Given the description of an element on the screen output the (x, y) to click on. 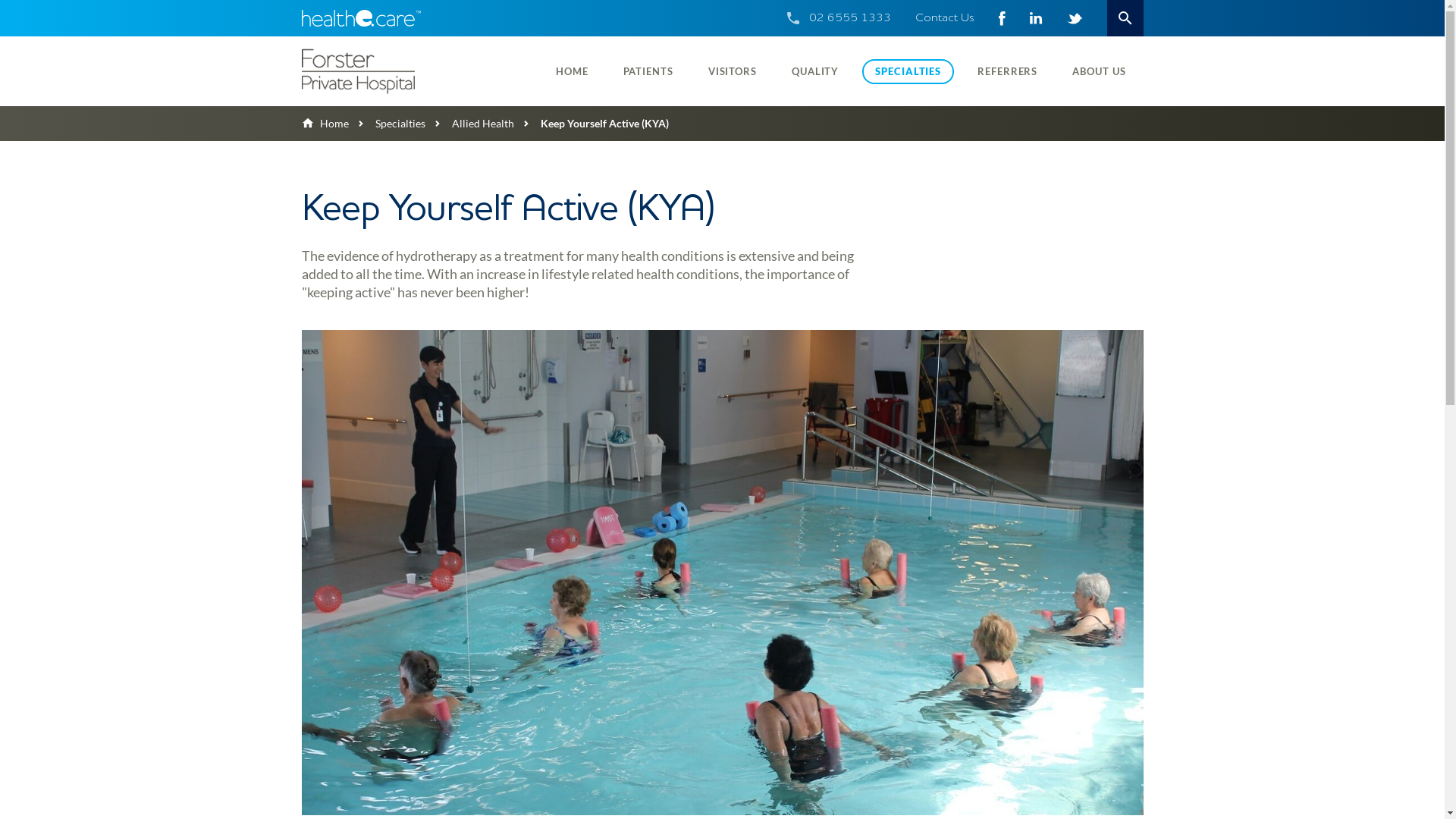
LinkedIn - 292626 Element type: text (1035, 18)
Twitter - HealtheCareAus Element type: text (1074, 17)
SPECIALTIES
(CURRENT) Element type: text (908, 71)
Specialties Element type: text (386, 122)
Allied Health Element type: text (468, 122)
VISITORS Element type: text (732, 70)
ABOUT US Element type: text (1098, 70)
Home Element type: text (324, 122)
Facebook page - forsterprivate Element type: text (1000, 17)
02 6555 1333 Element type: text (849, 18)
HOME Element type: text (571, 70)
QUALITY Element type: text (815, 70)
Skip to main content Element type: text (0, 0)
REFERRERS Element type: text (1007, 70)
PATIENTS Element type: text (647, 70)
Forster Private Element type: text (399, 71)
Contact Us Element type: text (943, 18)
